Given the description of an element on the screen output the (x, y) to click on. 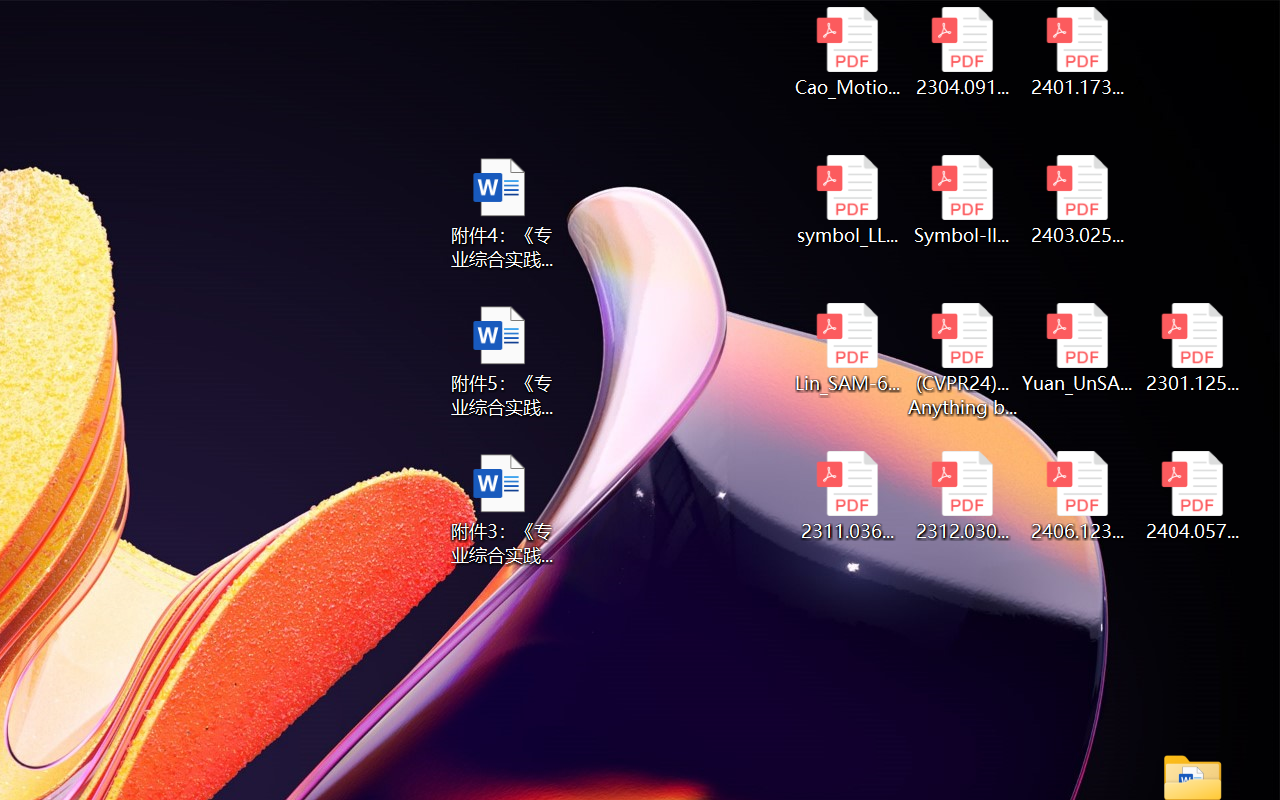
2304.09121v3.pdf (962, 52)
